Given the description of an element on the screen output the (x, y) to click on. 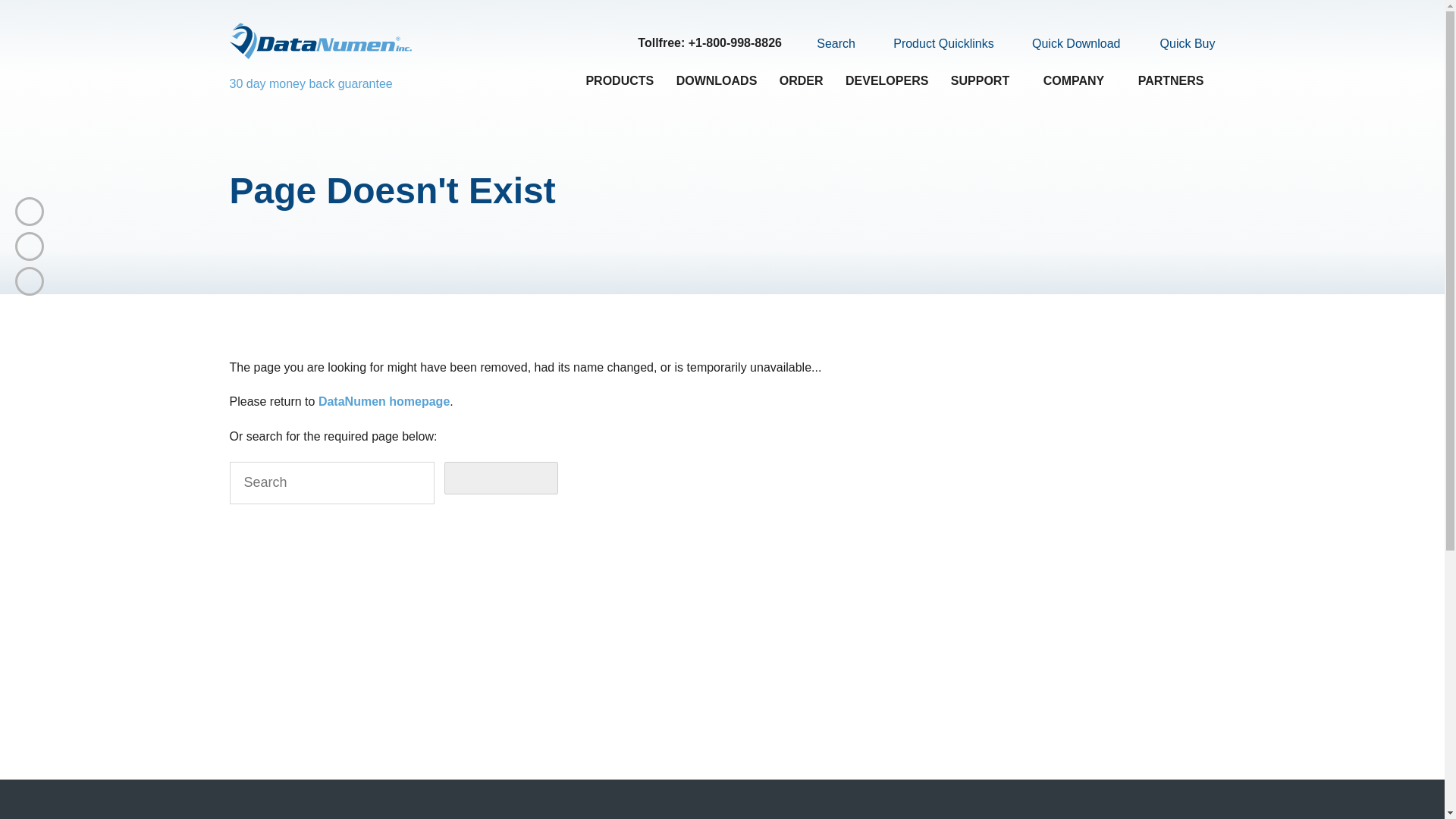
Search for: (330, 482)
Quick Download (1066, 44)
Search (827, 43)
Product Quicklinks (934, 44)
